Given the description of an element on the screen output the (x, y) to click on. 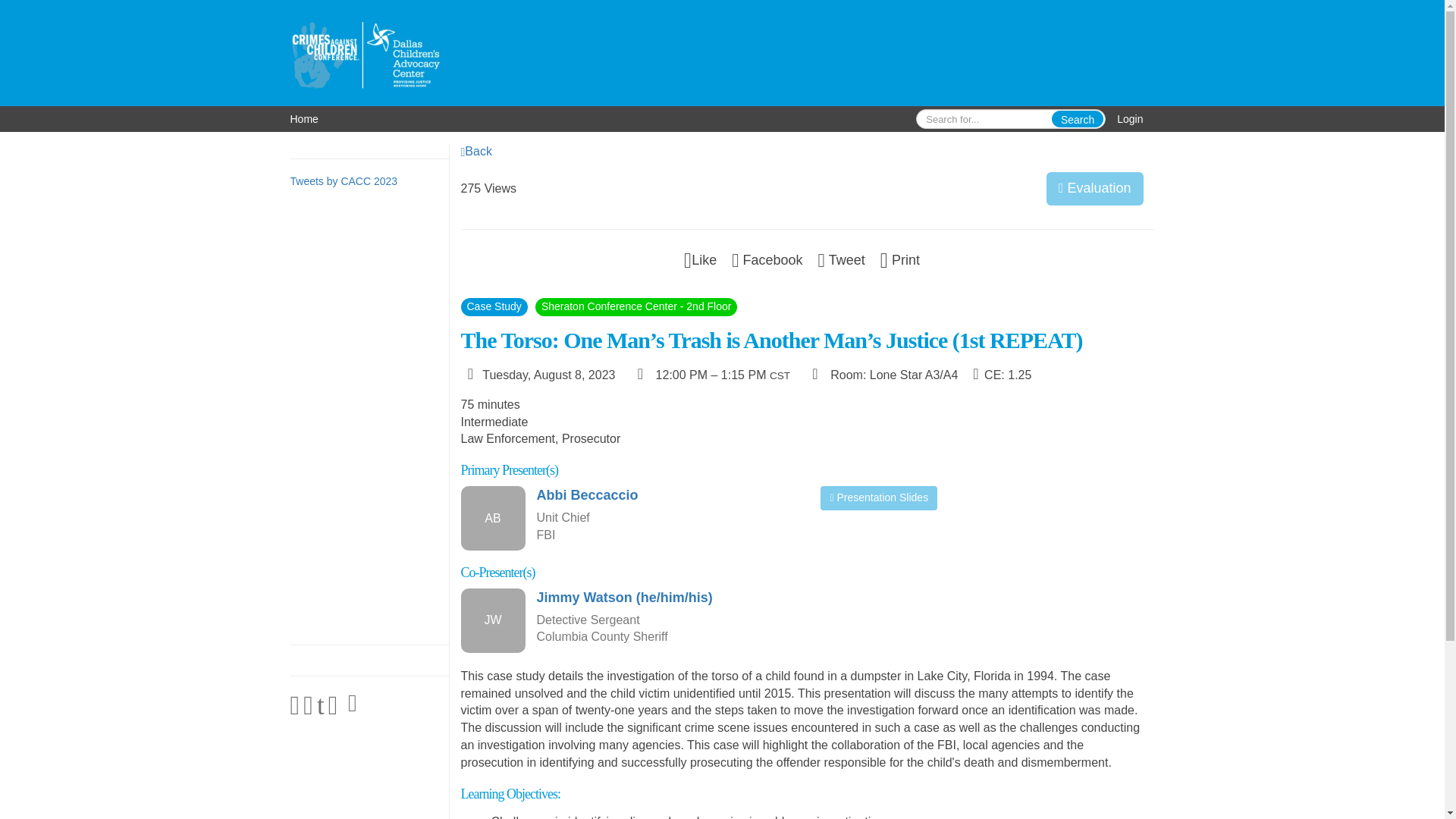
Print this presentation (900, 259)
Print (900, 259)
Presentation Slides (879, 498)
Tweet (841, 259)
Post this to Facebook (767, 259)
Abbi Beccaccio (667, 496)
Tweets by CACC 2023 (343, 181)
Login (1129, 118)
Home (303, 118)
Post this presentation (841, 259)
